Given the description of an element on the screen output the (x, y) to click on. 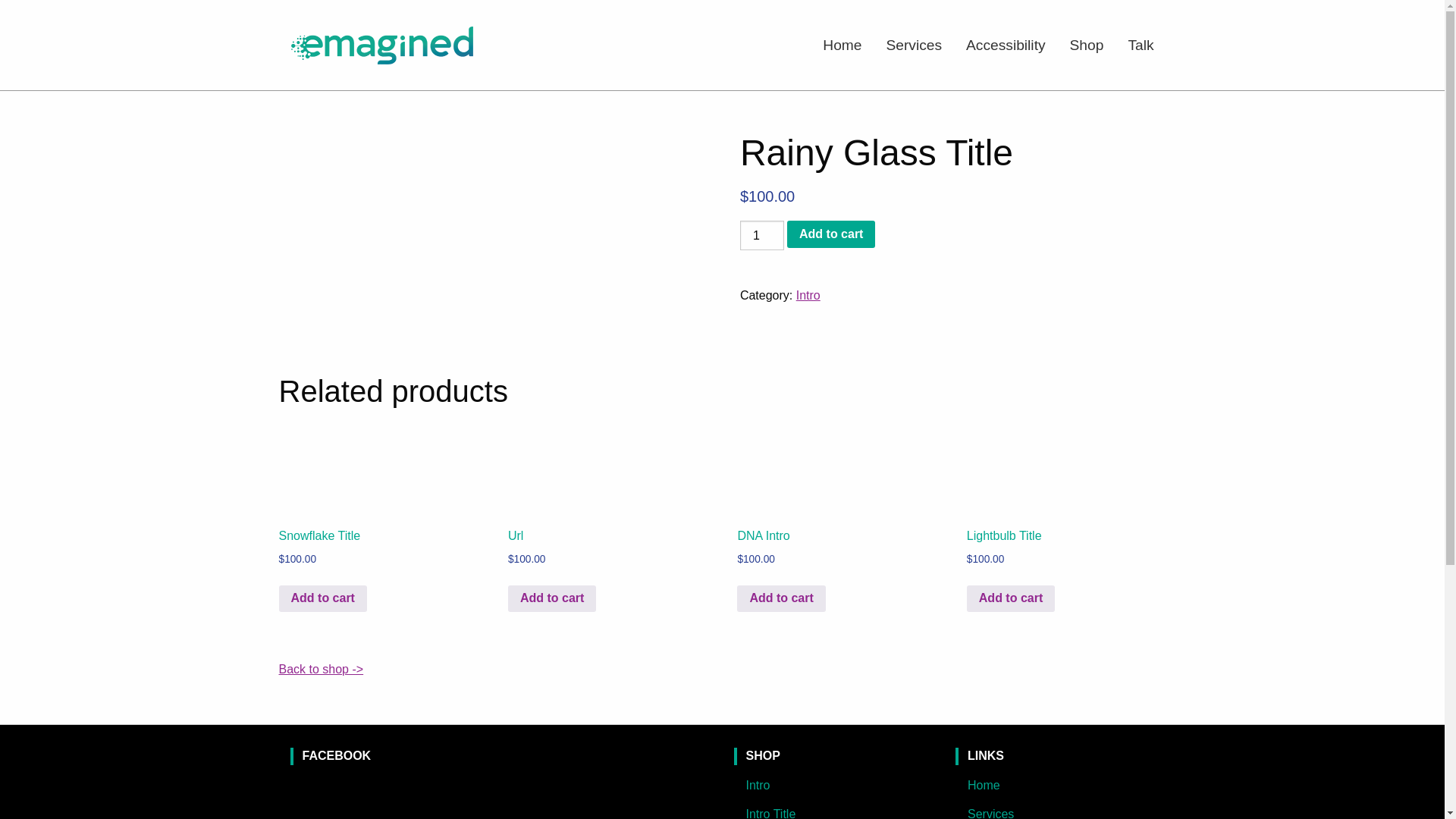
Home Element type: text (1054, 785)
Url
$100.00 Element type: text (605, 508)
Add to cart Element type: text (1010, 598)
Talk Element type: text (1140, 44)
Services Element type: text (913, 44)
Lightbulb Title
$100.00 Element type: text (1064, 508)
Shop Element type: text (1086, 44)
Intro Element type: text (808, 294)
Intro Element type: text (833, 785)
DNA Intro
$100.00 Element type: text (834, 508)
Back to shop -> Element type: text (321, 668)
Add to cart Element type: text (831, 233)
Add to cart Element type: text (781, 598)
Accessibility Element type: text (1005, 44)
Add to cart Element type: text (323, 598)
Home Element type: text (841, 44)
Add to cart Element type: text (552, 598)
Snowflake Title
$100.00 Element type: text (376, 508)
